Given the description of an element on the screen output the (x, y) to click on. 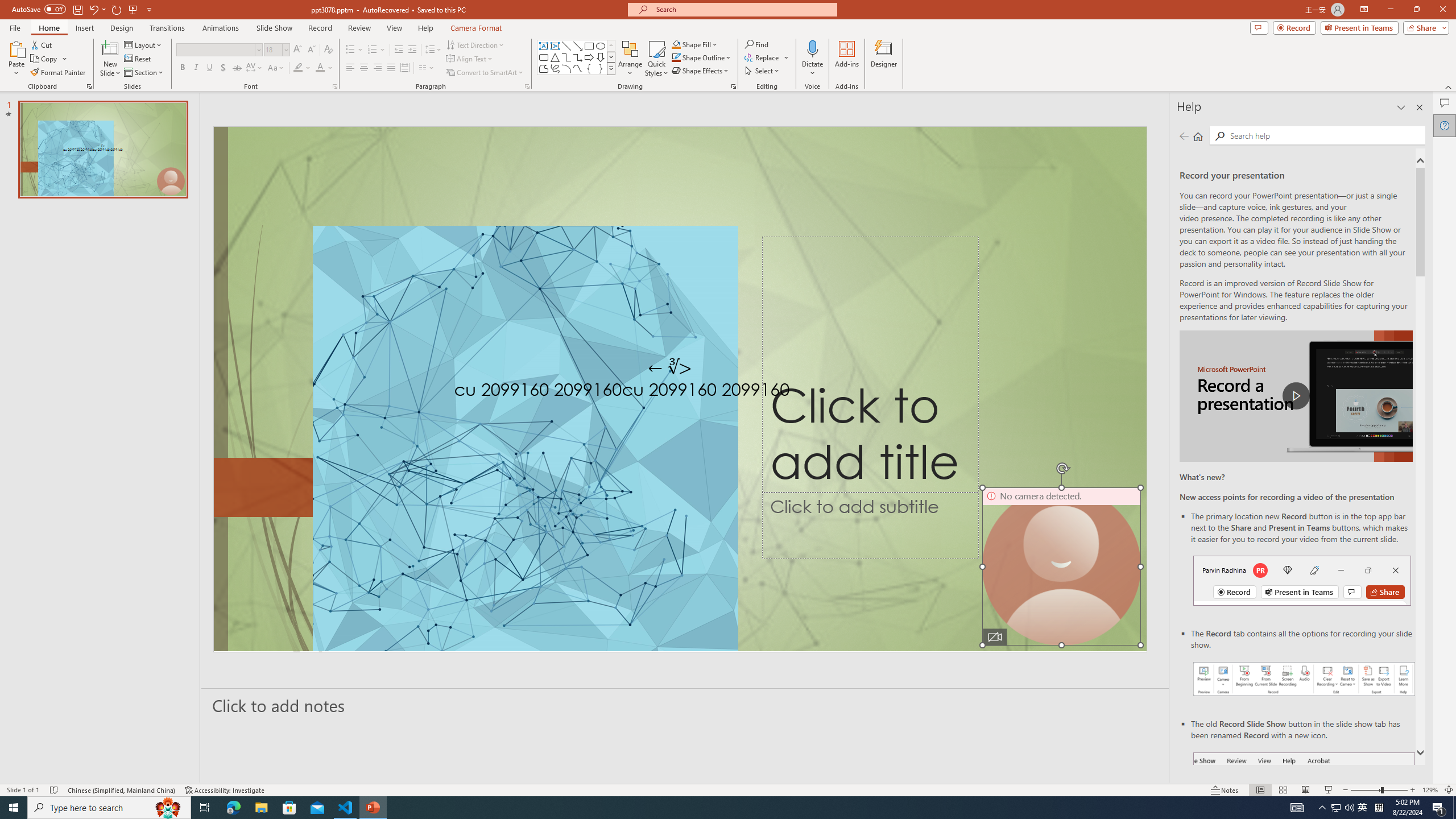
Paste (16, 48)
Rectangle: Rounded Corners (543, 57)
Align Left (349, 67)
Line Arrow (577, 45)
AutoSave (38, 9)
Notes  (1225, 790)
Freeform: Shape (543, 68)
Align Text (470, 58)
Present in Teams (1359, 27)
Decrease Font Size (310, 49)
TextBox 7 (670, 367)
Font (219, 49)
Search (1325, 135)
Section (144, 72)
